Given the description of an element on the screen output the (x, y) to click on. 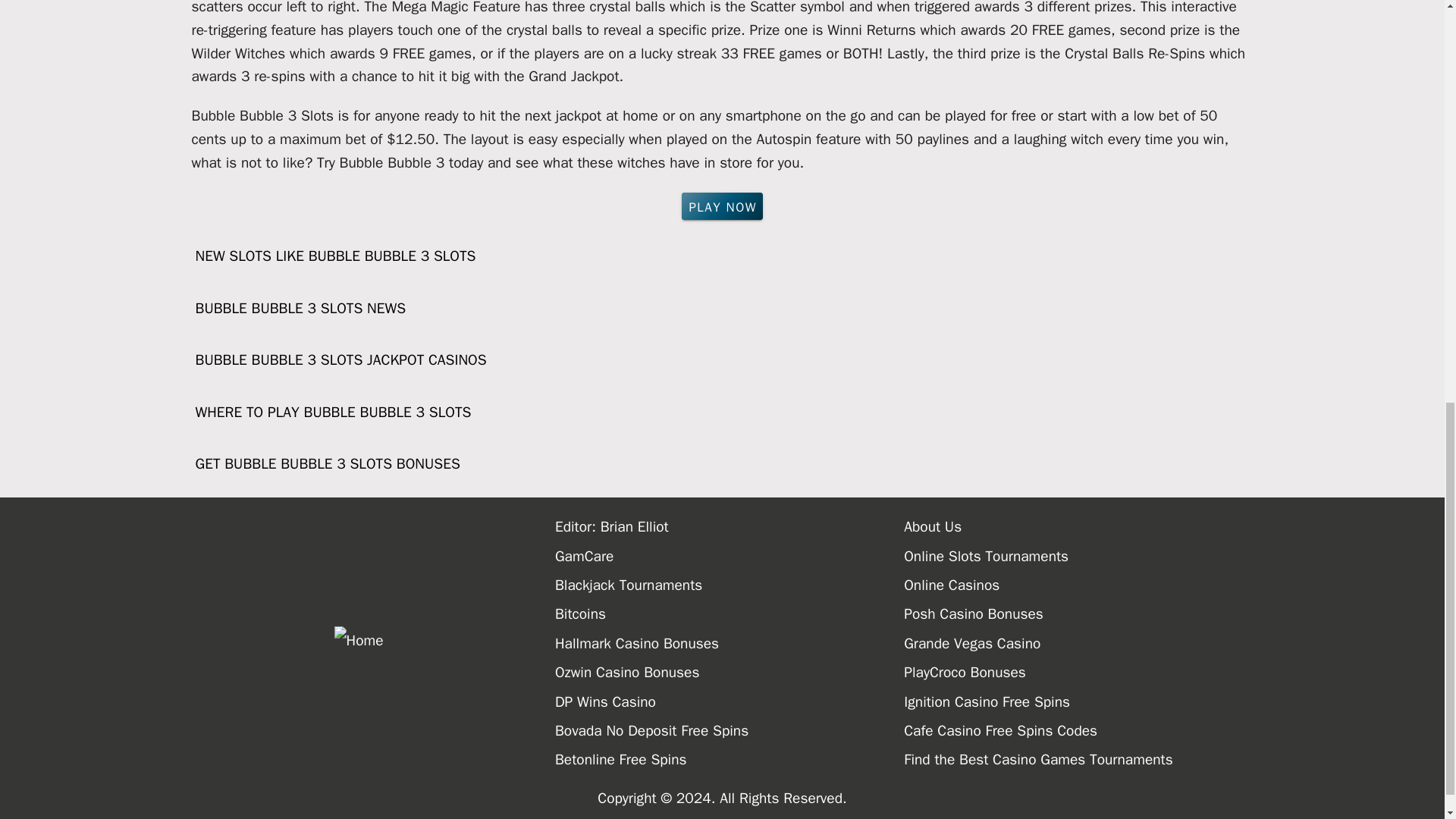
Grande Vegas Casino (1078, 643)
Bitcoins (729, 613)
DP Wins Casino (729, 701)
Ozwin Casino Bonuses (729, 672)
Bovada No Deposit Free Spins (729, 730)
Online Casinos (1078, 584)
PLAY NOW (721, 206)
Blackjack Tournaments (729, 584)
About Us (1078, 526)
Betonline Free Spins (729, 759)
